Given the description of an element on the screen output the (x, y) to click on. 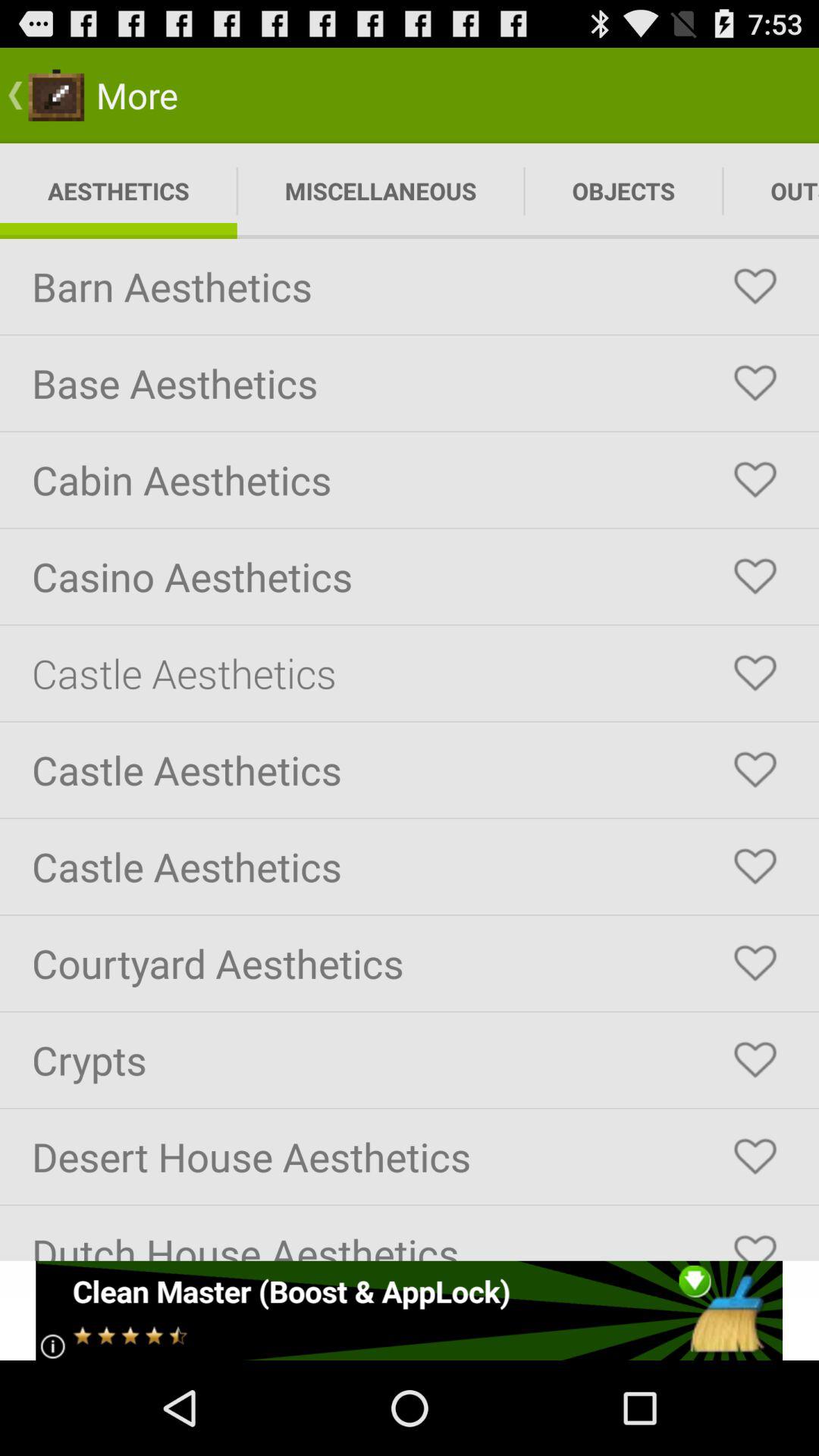
a link to an advertisement (408, 1310)
